Given the description of an element on the screen output the (x, y) to click on. 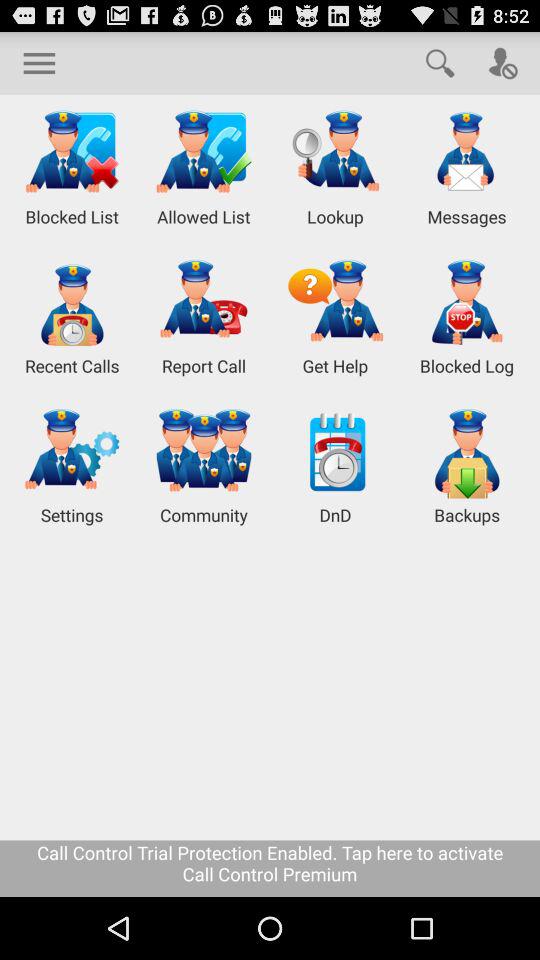
press icon below settings icon (270, 868)
